Given the description of an element on the screen output the (x, y) to click on. 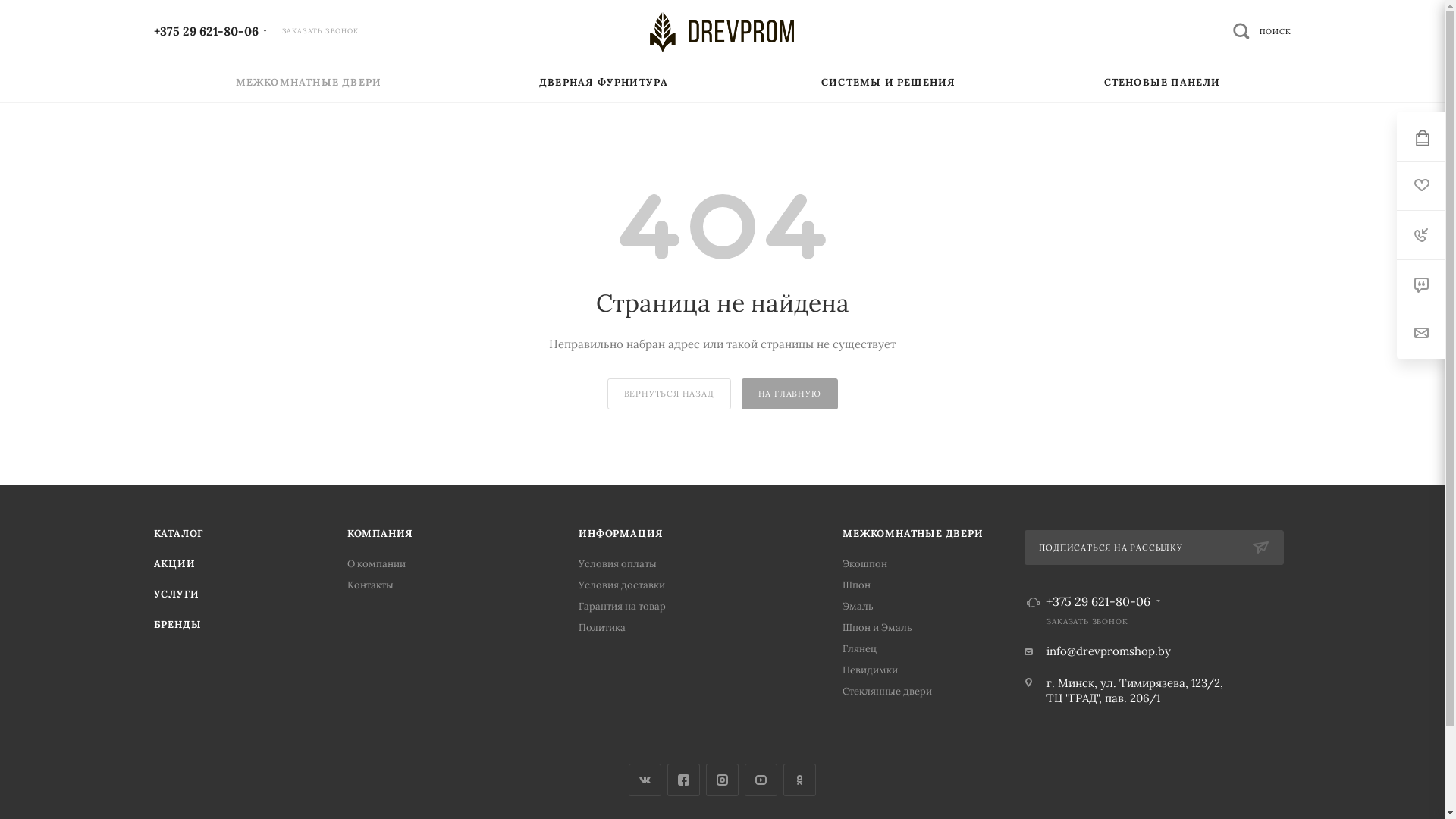
DREVPROM Element type: hover (721, 31)
Instagram Element type: text (722, 779)
+375 29 621-80-06 Element type: text (205, 29)
+375 29 621-80-06 Element type: text (1098, 601)
Facebook Element type: text (683, 779)
info@drevpromshop.by Element type: text (1108, 650)
YouTube Element type: text (760, 779)
